Given the description of an element on the screen output the (x, y) to click on. 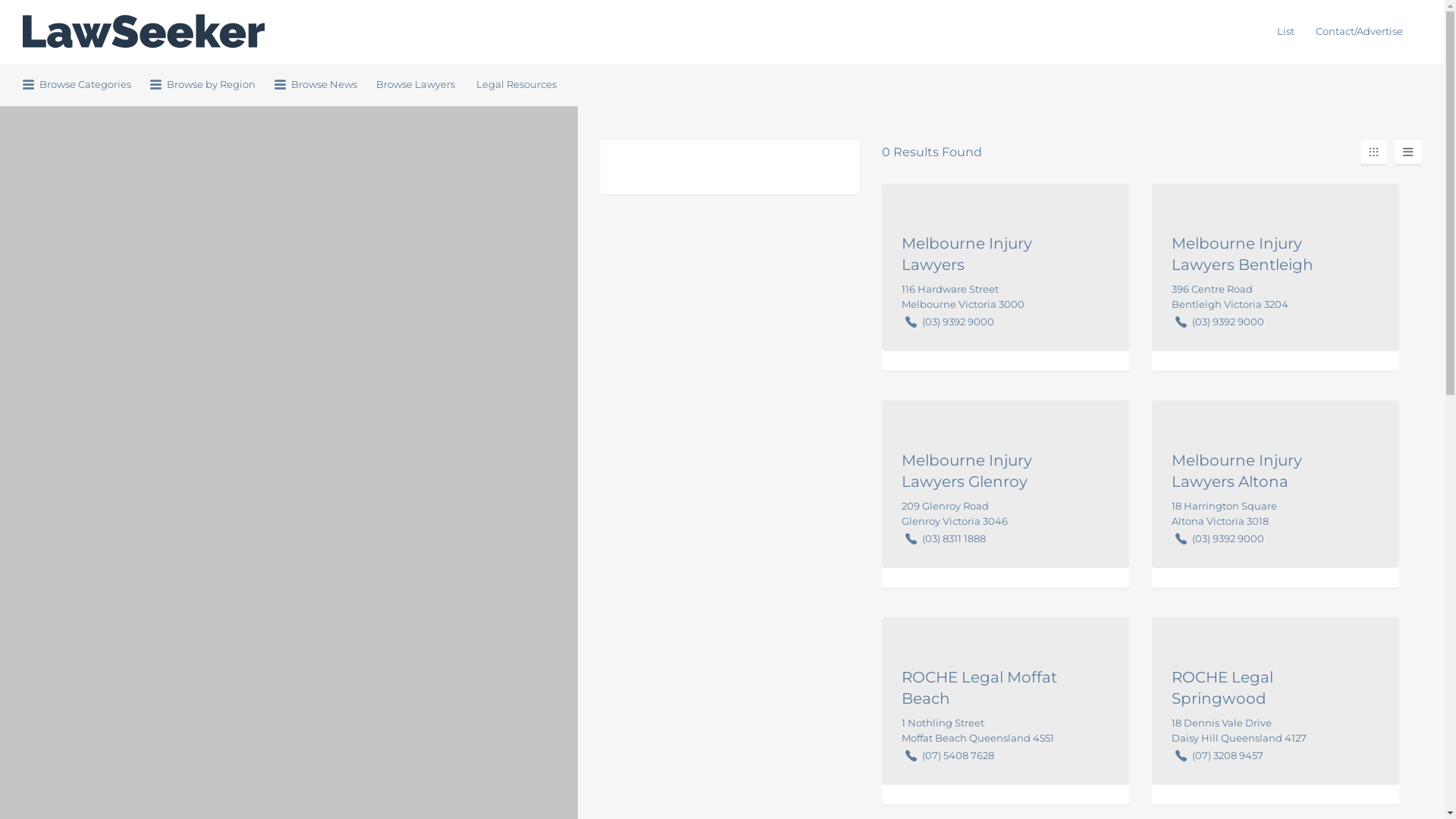
(03) 9392 9000 Element type: text (958, 321)
List Element type: text (1285, 31)
Browse by Region Element type: text (202, 84)
116 Hardware Street
Melbourne Victoria 3000 Element type: text (962, 295)
Legal Resources Element type: text (516, 84)
Browse News Element type: text (315, 84)
(07) 5408 7628 Element type: text (958, 755)
(07) 3208 9457 Element type: text (1227, 755)
Contact/Advertise Element type: text (1358, 31)
396 Centre Road
Bentleigh Victoria 3204 Element type: text (1229, 295)
Browse Categories Element type: text (76, 84)
(03) 8311 1888 Element type: text (953, 538)
18 Harrington Square
Altona Victoria 3018 Element type: text (1224, 512)
Browse Lawyers Element type: text (415, 84)
1 Nothling Street
Moffat Beach Queensland 4551 Element type: text (977, 729)
(03) 9392 9000 Element type: text (1228, 321)
(03) 9392 9000 Element type: text (1228, 538)
18 Dennis Vale Drive
Daisy Hill Queensland 4127 Element type: text (1238, 729)
209 Glenroy Road
Glenroy Victoria 3046 Element type: text (954, 512)
